Given the description of an element on the screen output the (x, y) to click on. 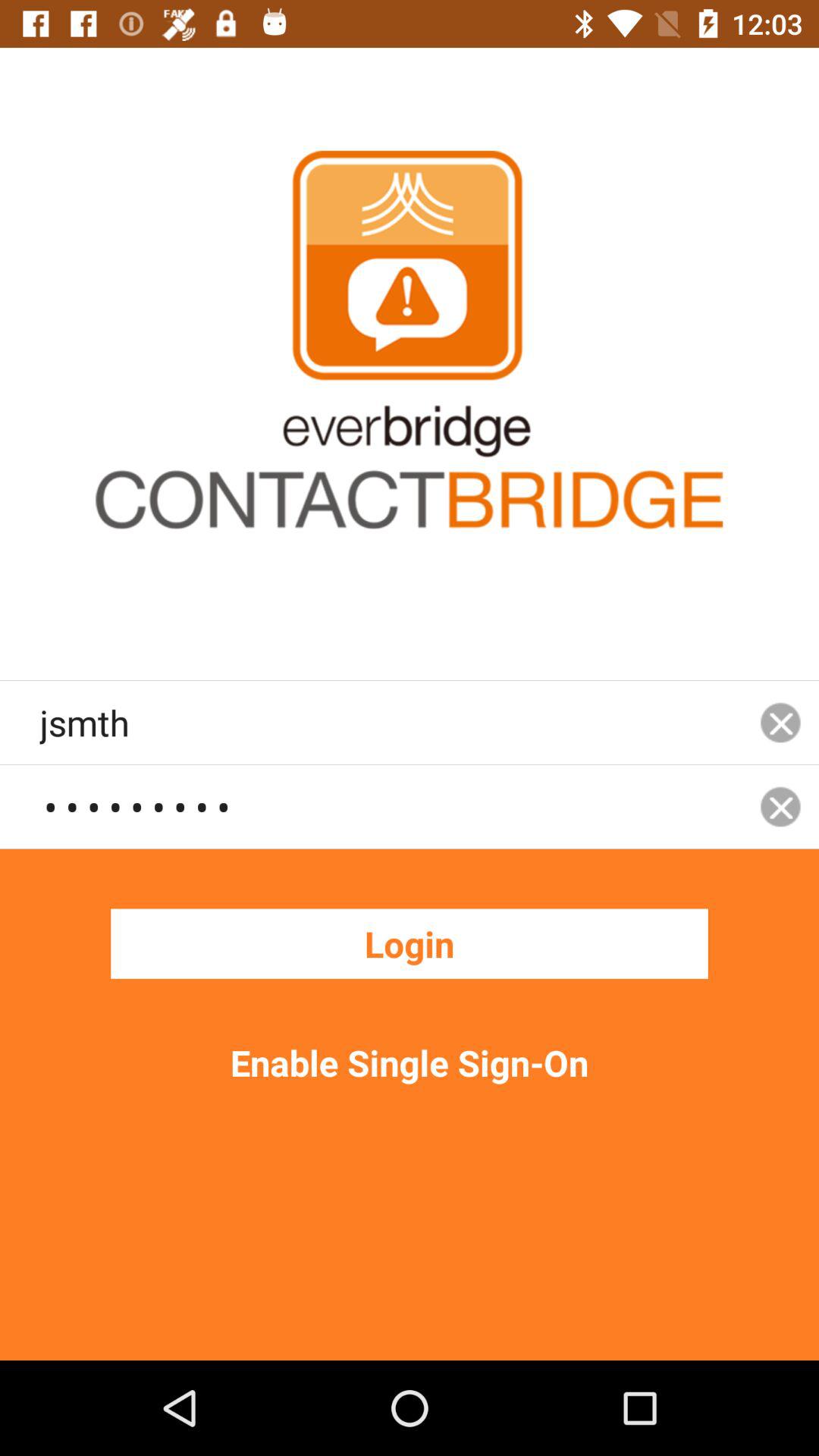
select the icon below jsmth item (390, 806)
